Given the description of an element on the screen output the (x, y) to click on. 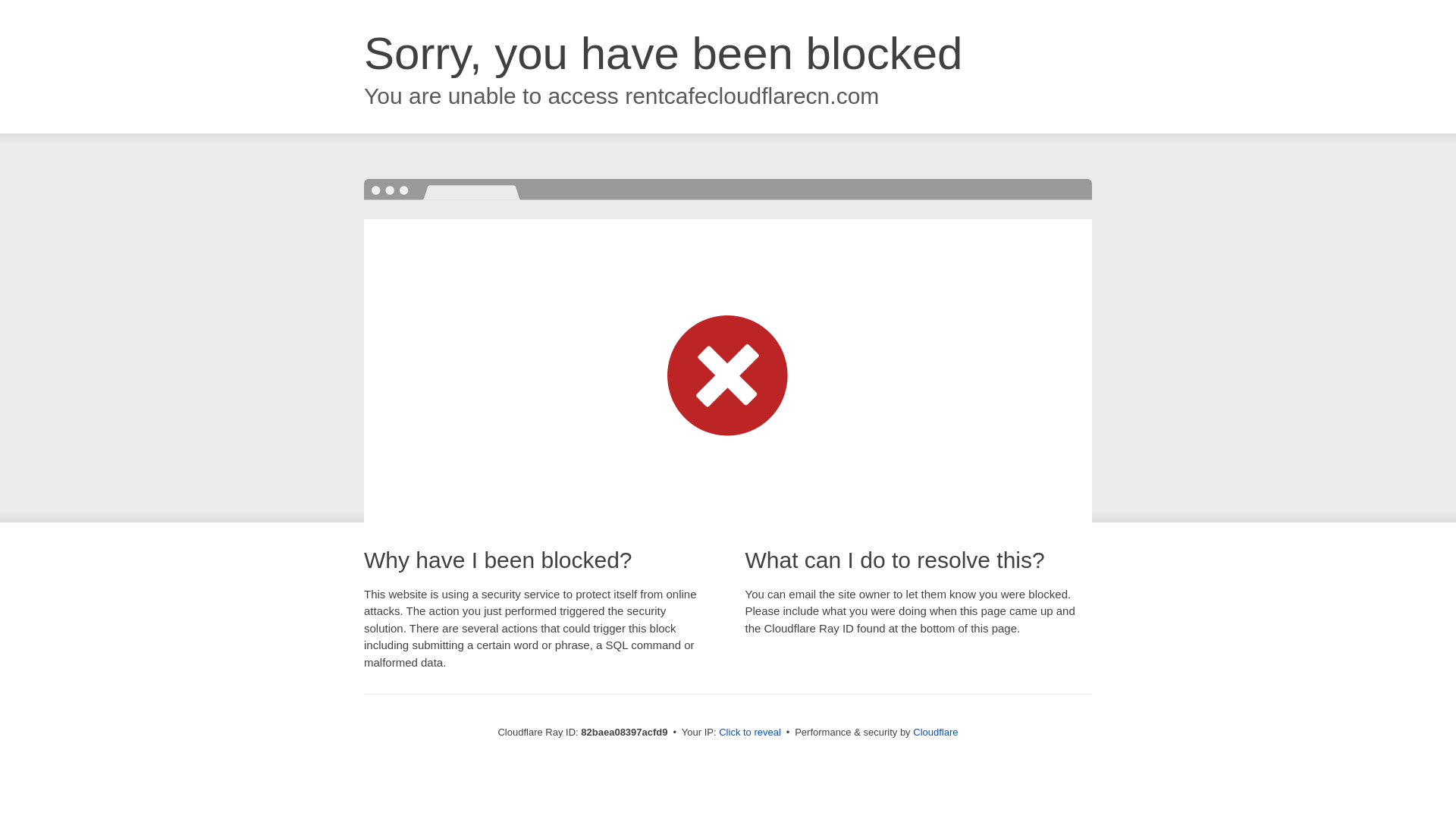
Click to reveal Element type: text (749, 732)
Cloudflare Element type: text (935, 731)
